Given the description of an element on the screen output the (x, y) to click on. 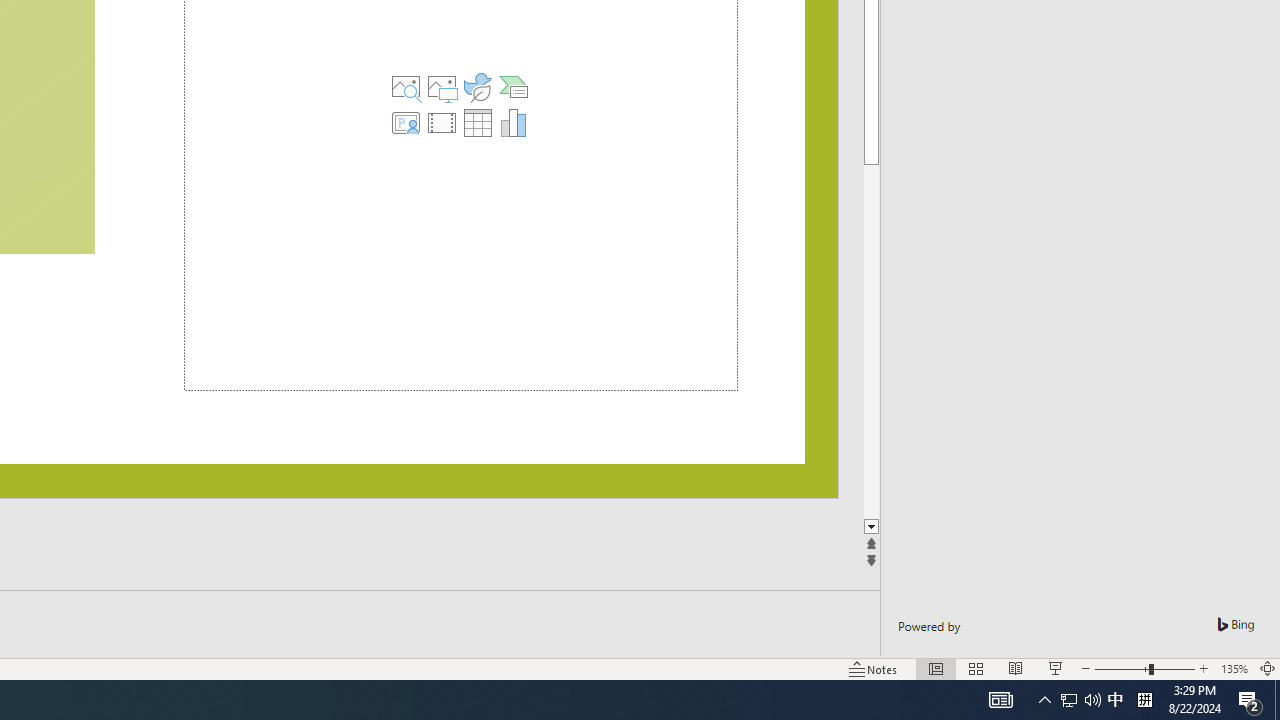
Slide Sorter (975, 668)
Notes  (874, 668)
Zoom (1144, 668)
Pictures (442, 86)
Zoom 135% (1234, 668)
